Given the description of an element on the screen output the (x, y) to click on. 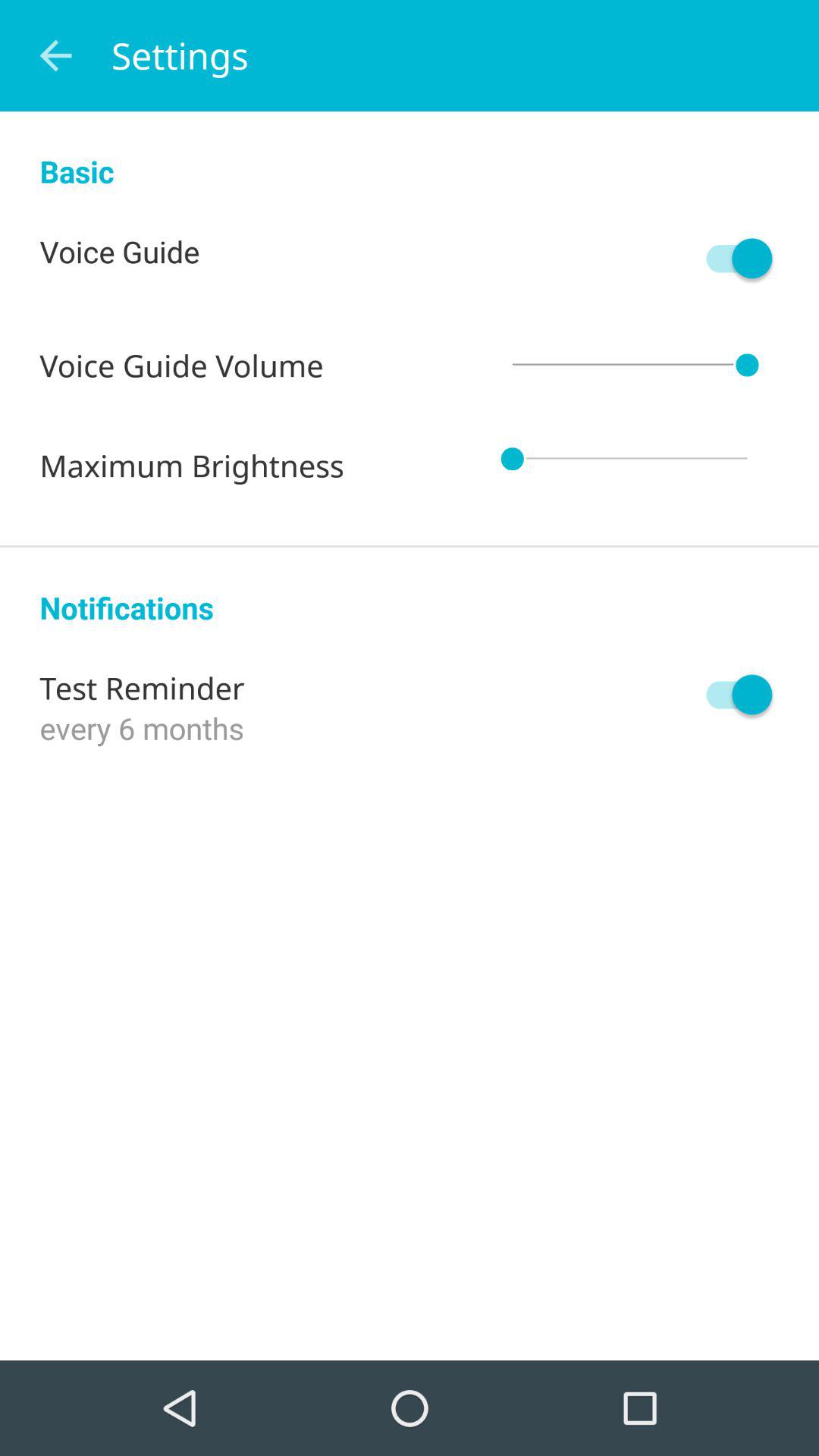
select icon to the left of settings icon (55, 55)
